Given the description of an element on the screen output the (x, y) to click on. 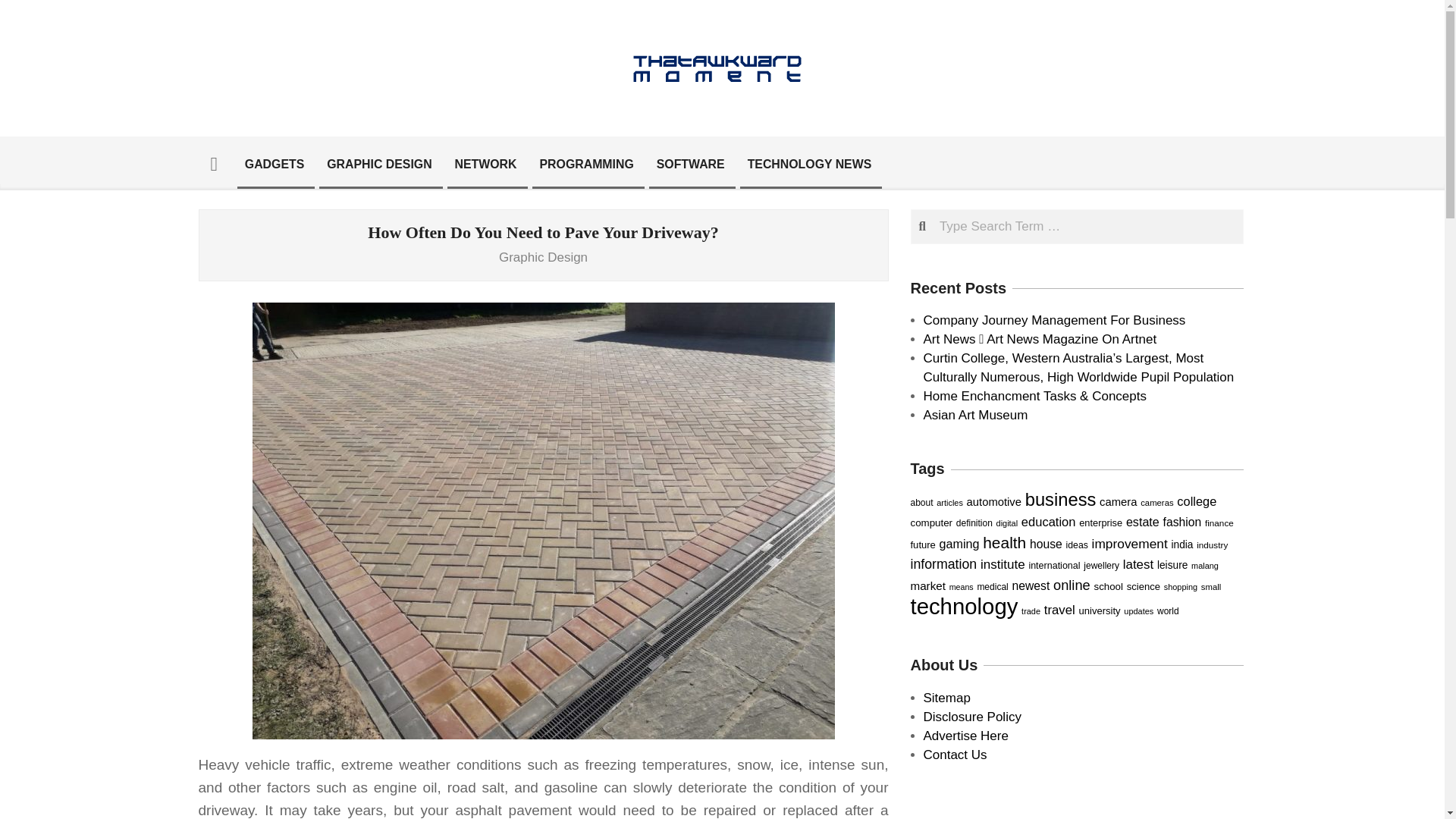
Company Journey Management For Business (1054, 319)
camera (1118, 501)
college (1195, 500)
business (1060, 499)
SOFTWARE (690, 163)
TECHNOLOGY NEWS (809, 163)
GADGETS (273, 163)
definition (974, 522)
GRAPHIC DESIGN (378, 163)
articles (949, 501)
Seedbacklink (1076, 808)
education (1048, 522)
about (921, 502)
computer (931, 522)
cameras (1156, 501)
